Given the description of an element on the screen output the (x, y) to click on. 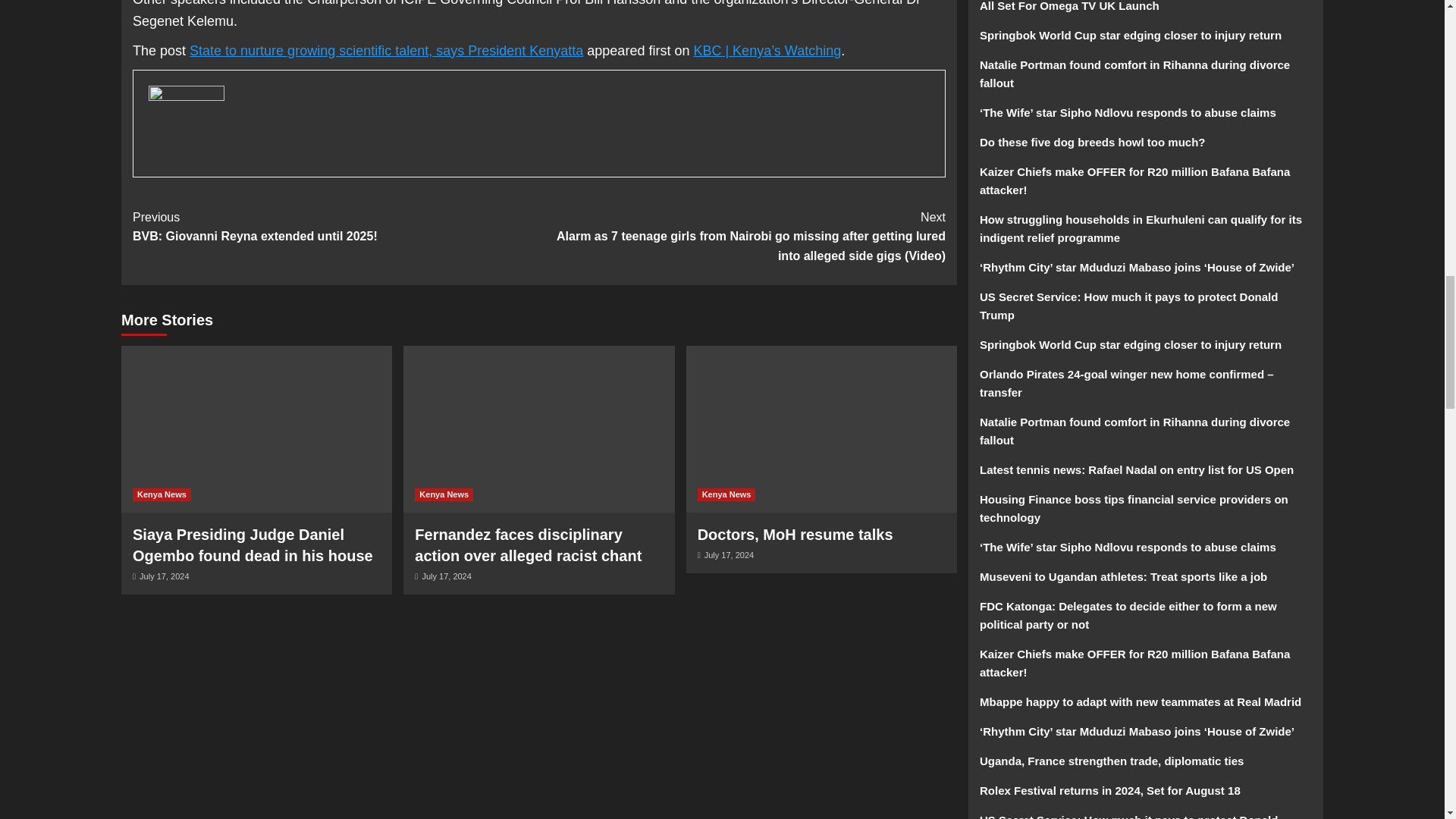
Kenya News (726, 494)
Siaya Presiding Judge Daniel Ogembo found dead in his house (252, 545)
Kenya News (161, 494)
July 17, 2024 (164, 575)
July 17, 2024 (335, 227)
Kenya News (729, 554)
Doctors, MoH resume talks (443, 494)
July 17, 2024 (795, 534)
